Given the description of an element on the screen output the (x, y) to click on. 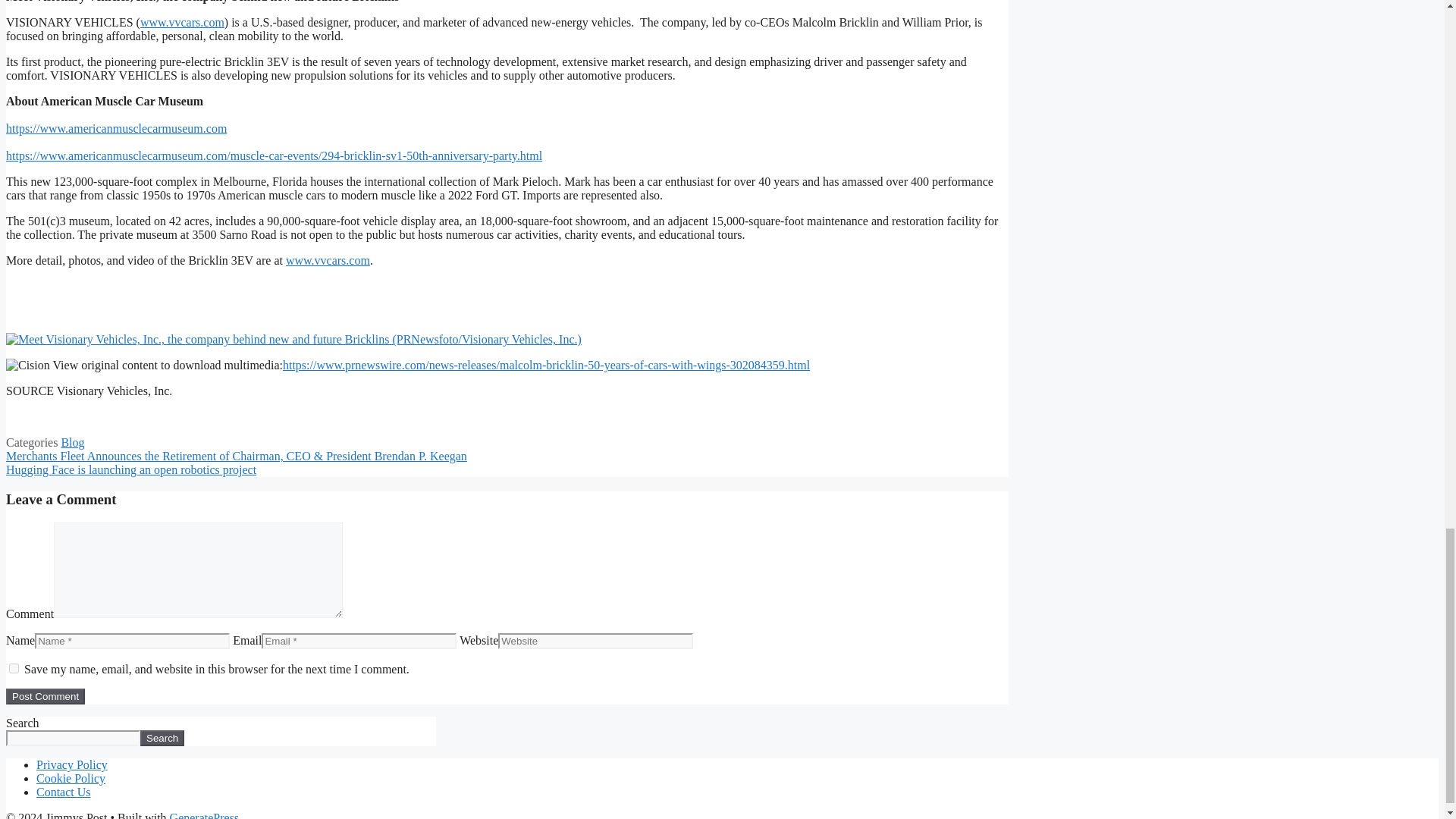
Post Comment (44, 696)
Search (161, 738)
www.vvcars.com (327, 259)
Blog (72, 441)
Cookie Policy (70, 778)
yes (13, 668)
Contact Us (63, 791)
Cision (27, 365)
Post Comment (44, 696)
Privacy Policy (71, 764)
Hugging Face is launching an open robotics project (130, 469)
www.vvcars.com (181, 21)
